Given the description of an element on the screen output the (x, y) to click on. 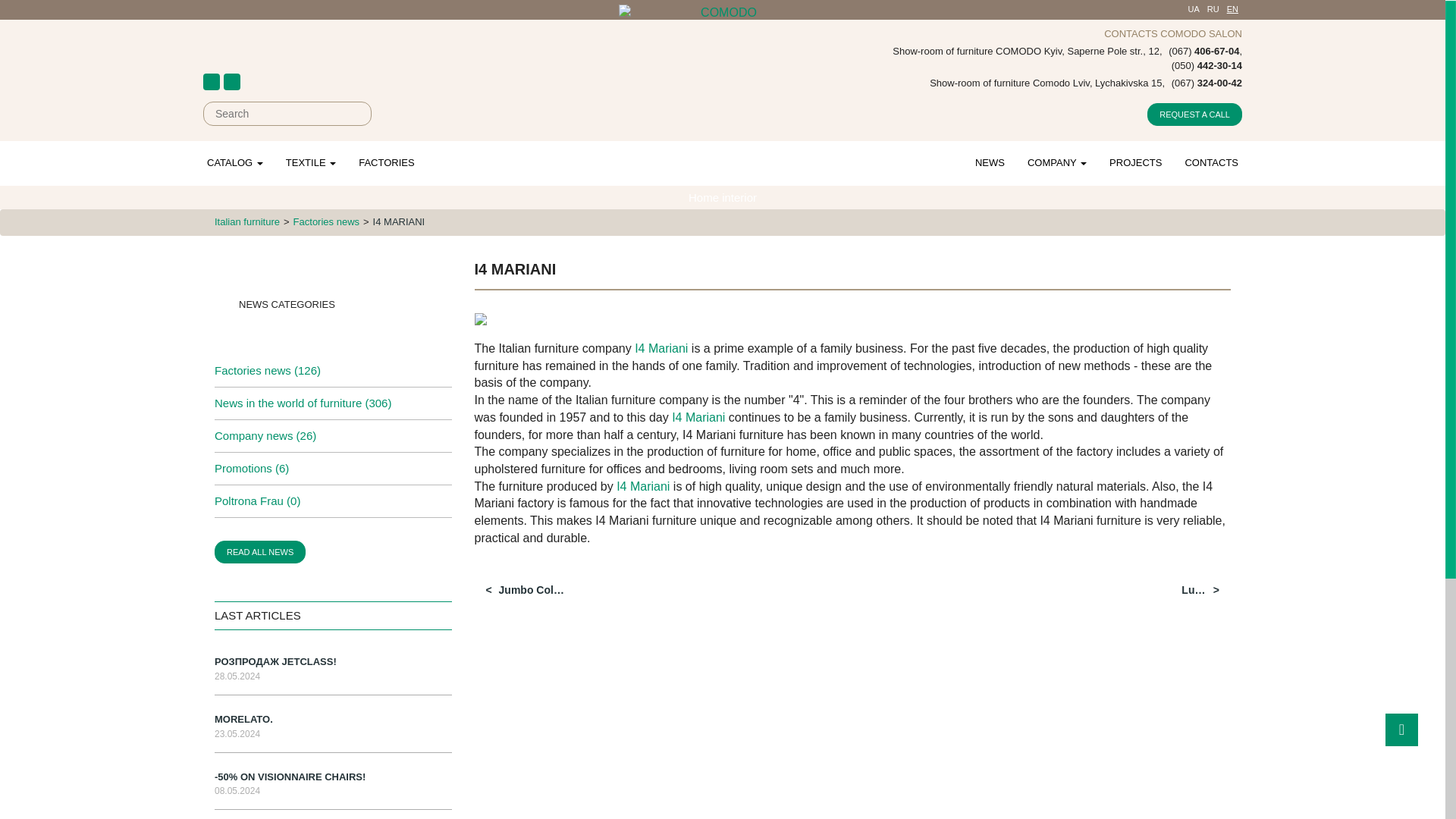
RU (1213, 8)
Factories news (326, 221)
EN (1233, 8)
Luigi Volpi (1184, 590)
CATALOG (234, 162)
REQUEST A CALL (1194, 114)
I4 MARIANI (398, 221)
Italian furniture (246, 221)
UA (1193, 8)
